Given the description of an element on the screen output the (x, y) to click on. 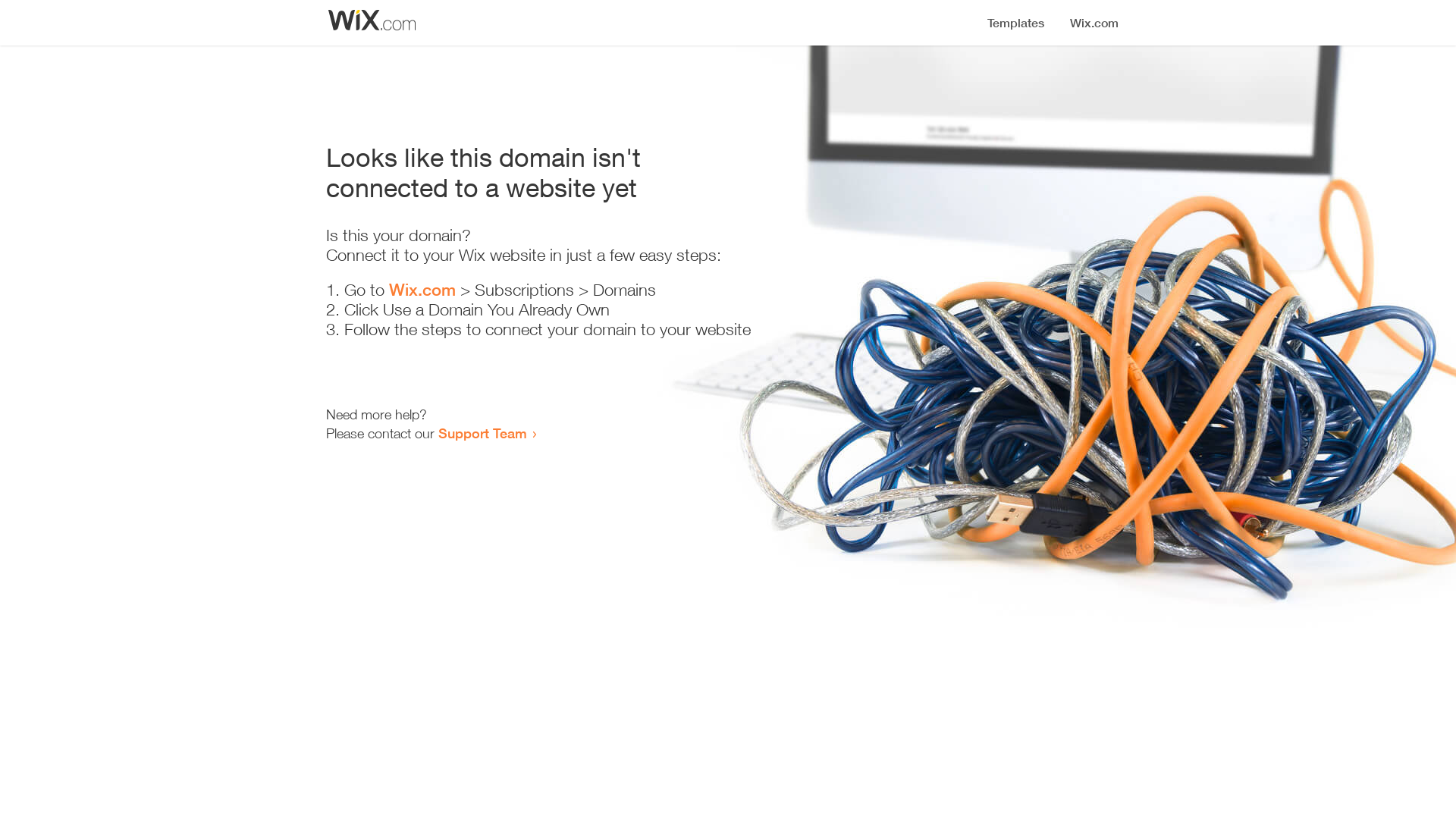
Wix.com Element type: text (422, 289)
Support Team Element type: text (482, 432)
